Given the description of an element on the screen output the (x, y) to click on. 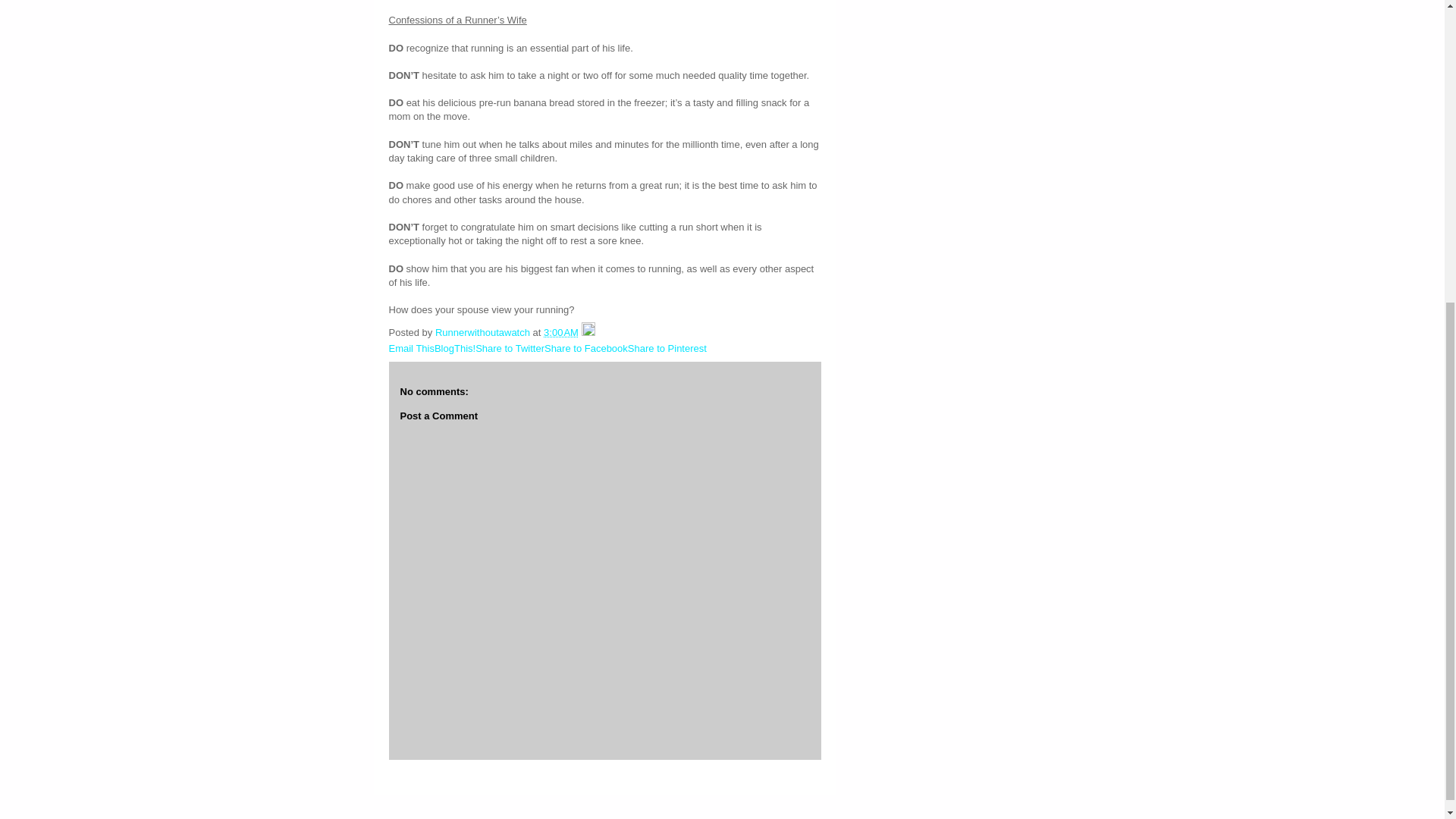
Share to Twitter (510, 348)
BlogThis! (454, 348)
Runnerwithoutawatch (483, 332)
Edit Post (587, 332)
BlogThis! (454, 348)
Email This (410, 348)
permanent link (560, 332)
Share to Pinterest (666, 348)
Email This (410, 348)
